Given the description of an element on the screen output the (x, y) to click on. 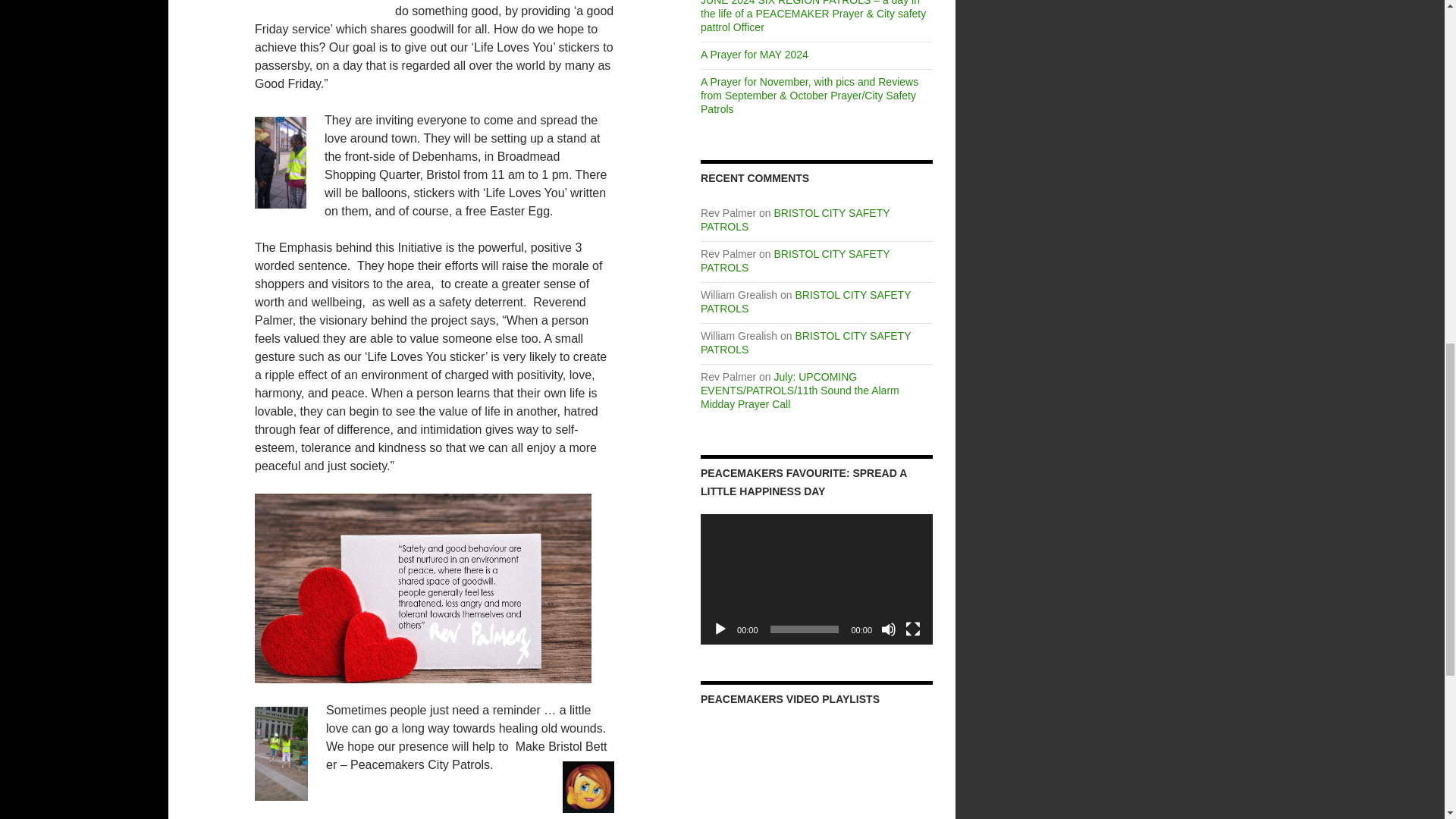
Mute (888, 629)
Fullscreen (912, 629)
Play (720, 629)
